Given the description of an element on the screen output the (x, y) to click on. 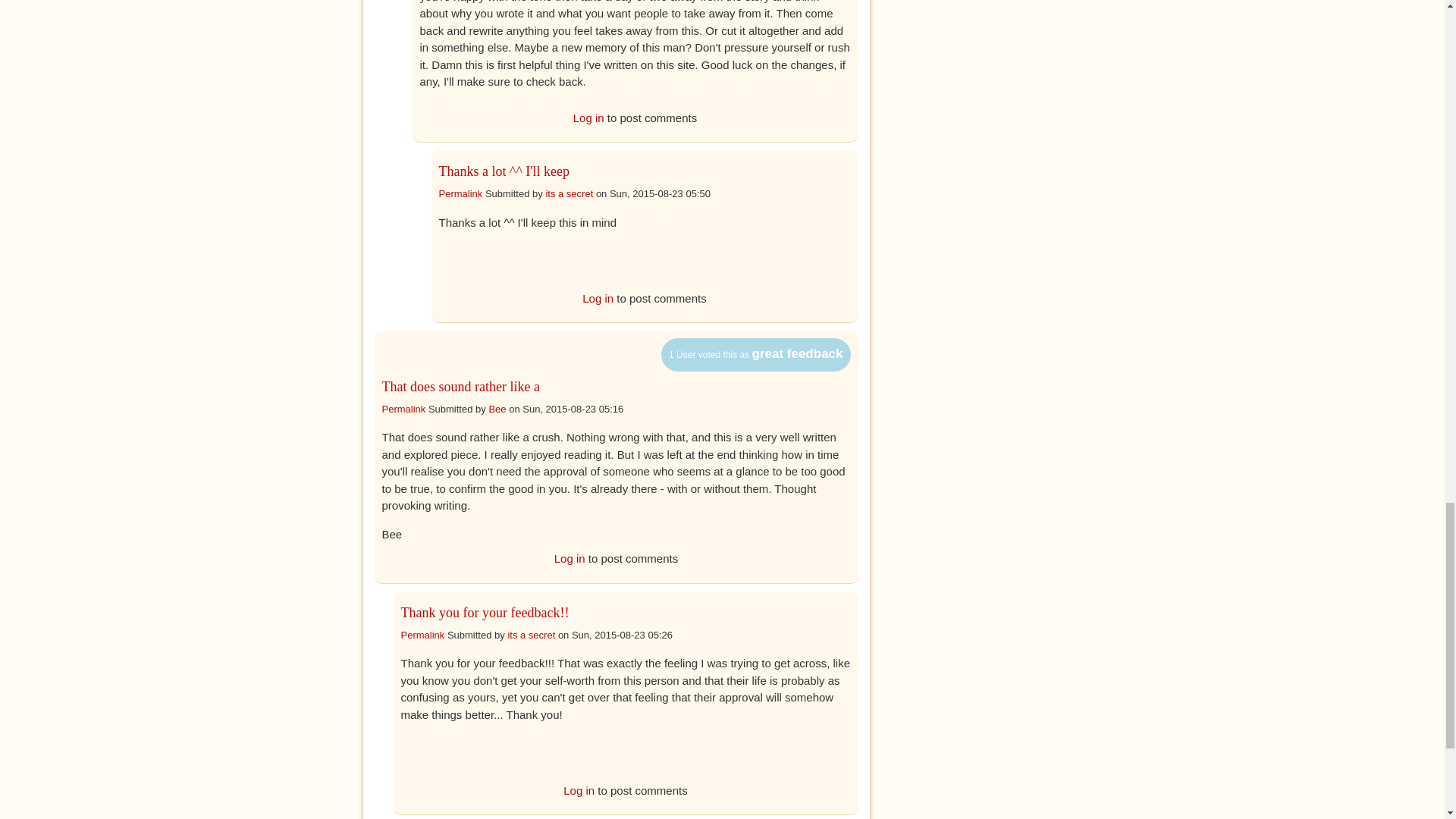
Log in (597, 297)
View user profile. (568, 193)
View user profile. (496, 408)
its a secret (568, 193)
Permalink (459, 193)
Log in (588, 116)
View user profile. (530, 634)
